Given the description of an element on the screen output the (x, y) to click on. 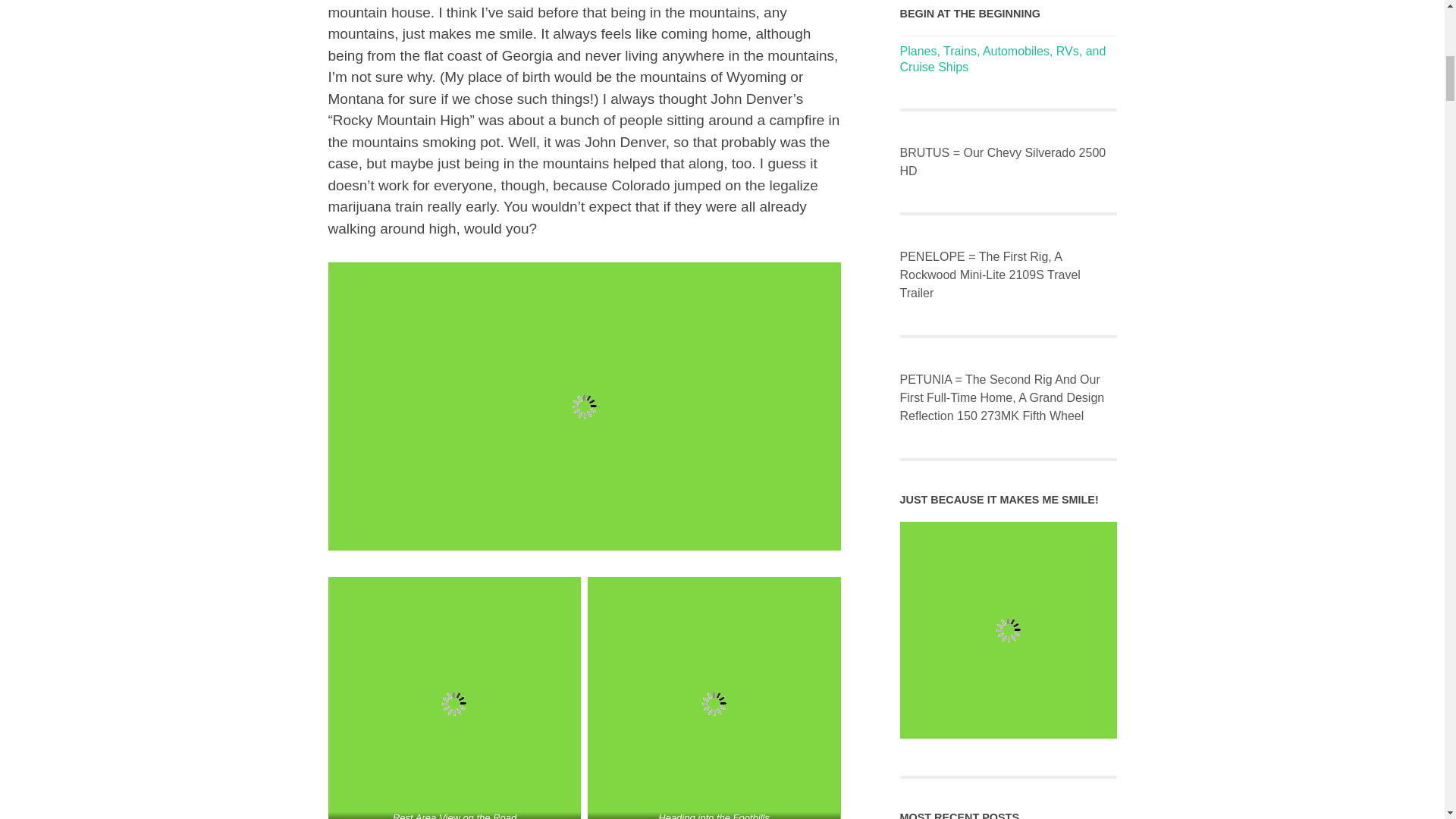
Planes, Trains, Automobiles, RVs, and Cruise Ships (1002, 59)
